Given the description of an element on the screen output the (x, y) to click on. 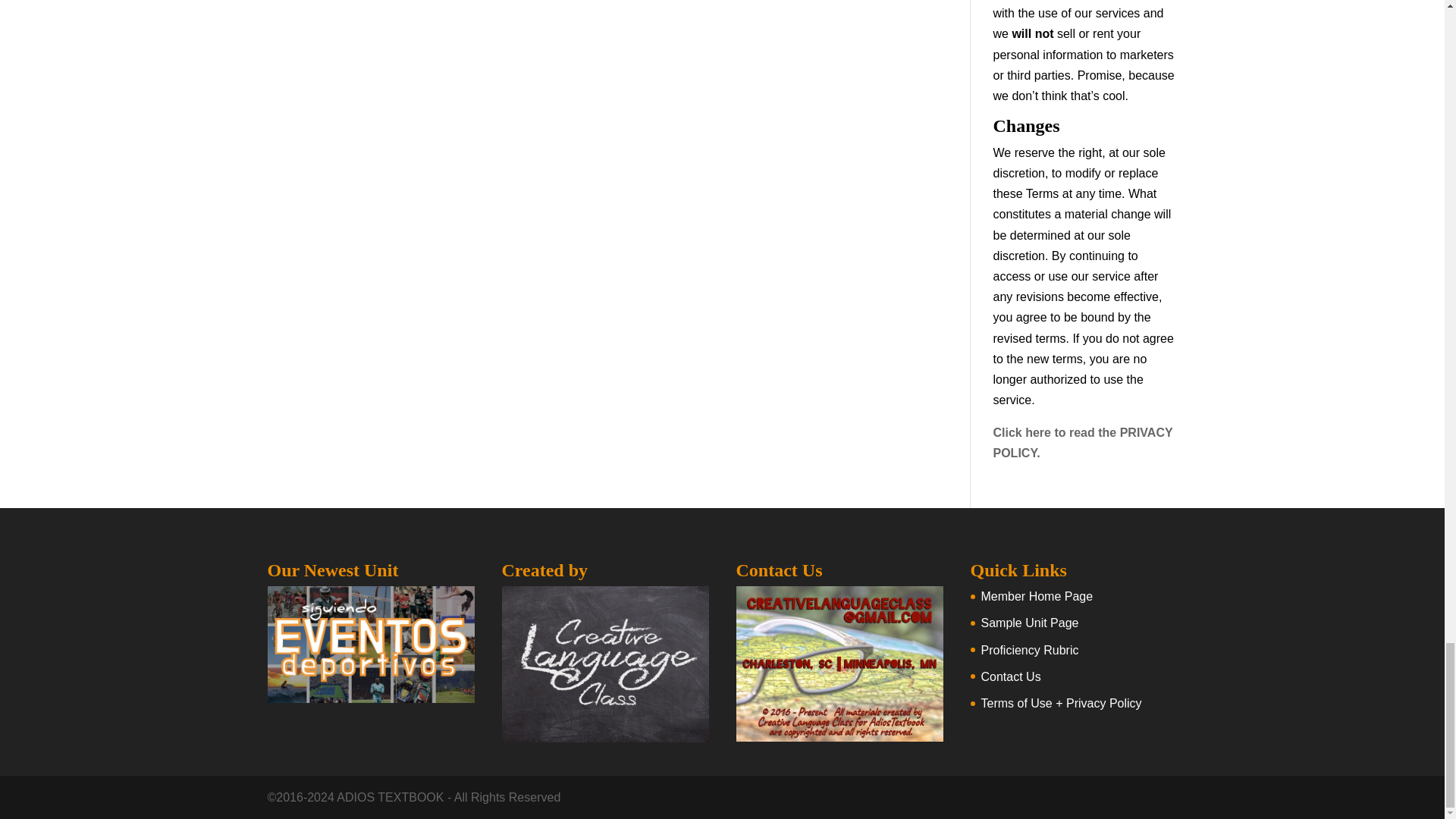
Click here to read the PRIVACY POLICY. (1082, 442)
Contact Us (1011, 676)
Proficiency Rubric (1029, 649)
Member Home Page (1037, 595)
Sample Unit Page (1029, 622)
